Given the description of an element on the screen output the (x, y) to click on. 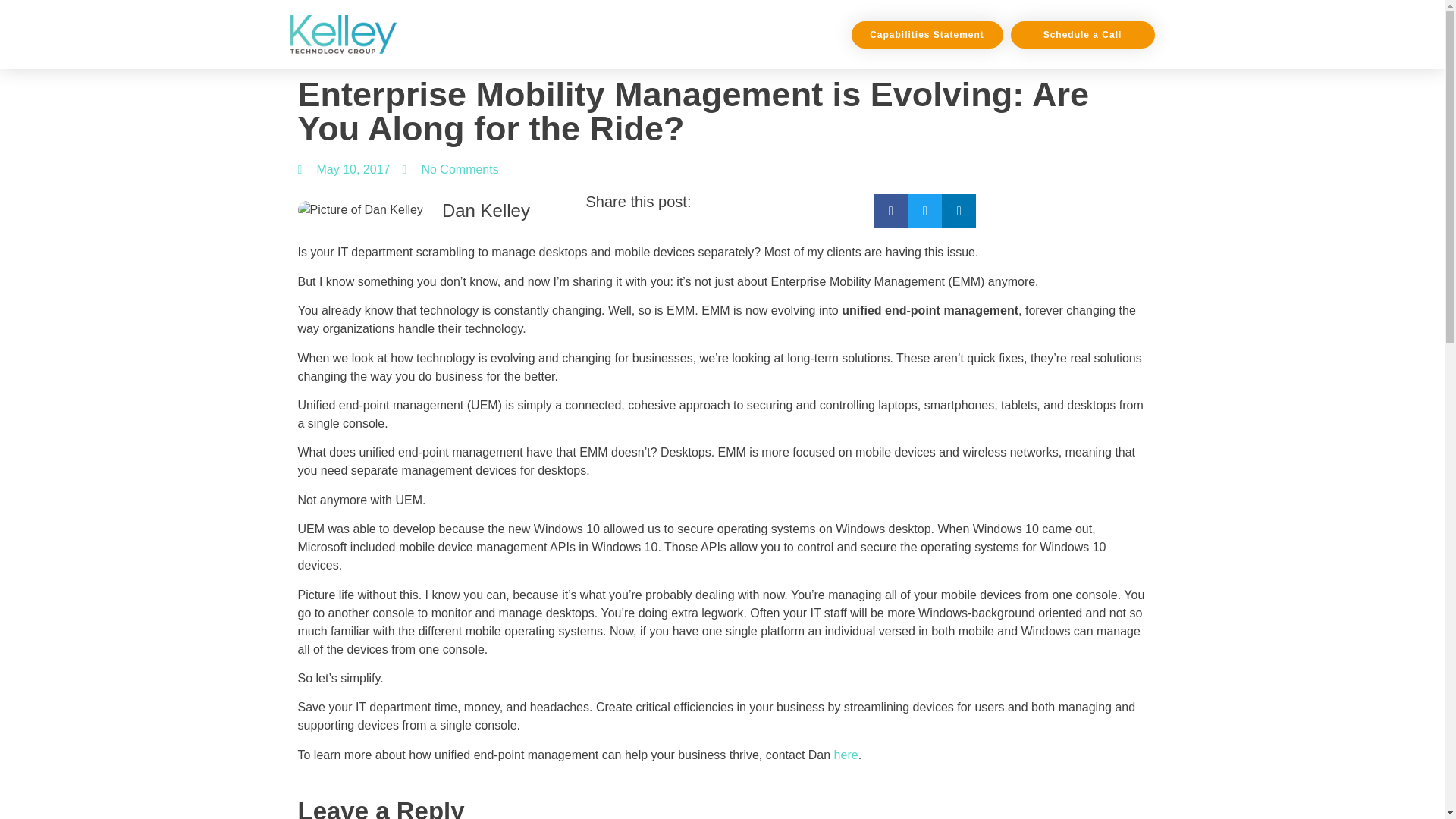
here (846, 754)
No Comments (449, 169)
Schedule a Call (1082, 34)
May 10, 2017 (343, 169)
Capabilities Statement (926, 34)
